Given the description of an element on the screen output the (x, y) to click on. 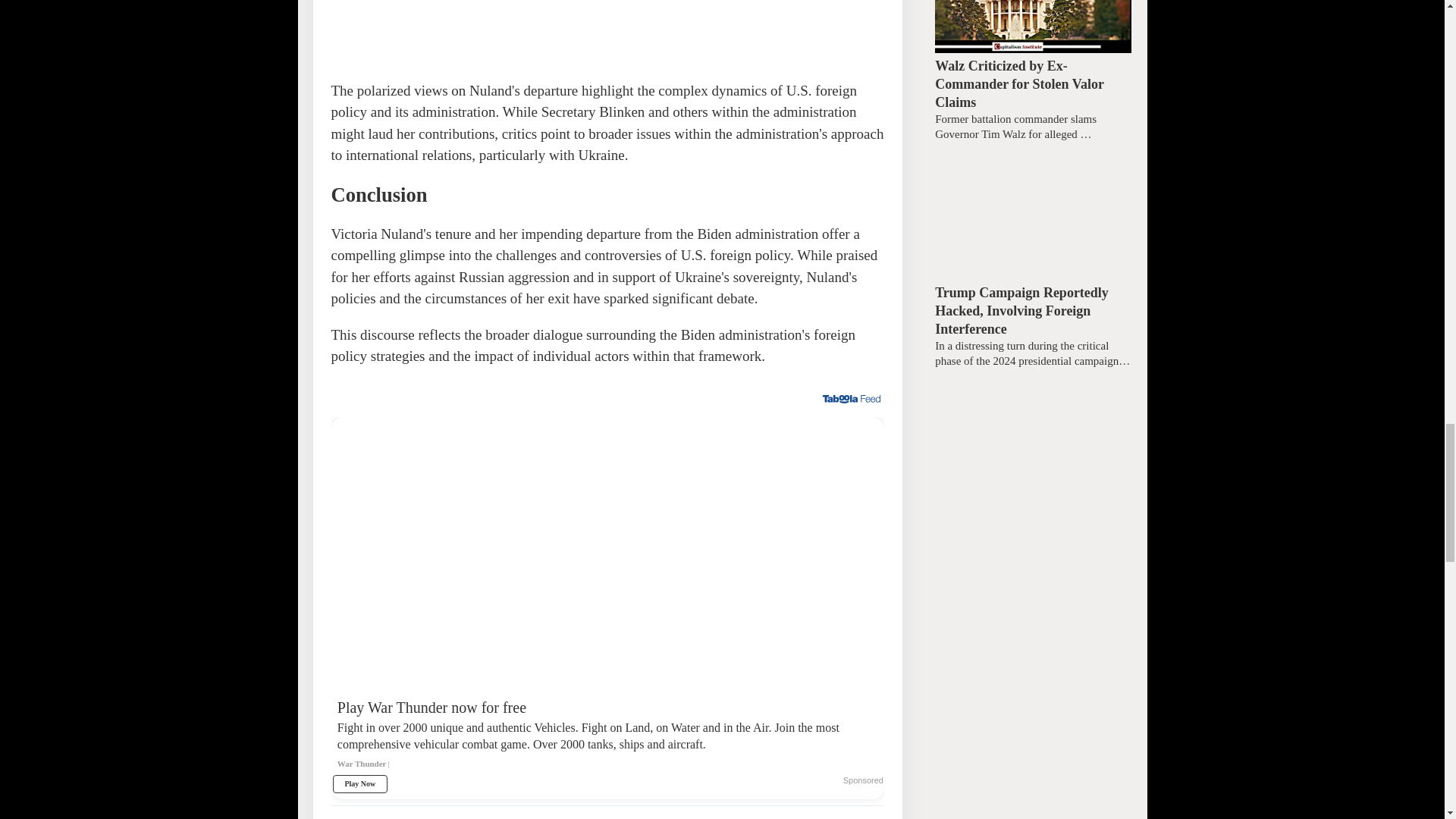
Play Now (360, 783)
Play War Thunder now for free (607, 740)
Sponsored (863, 780)
